Given the description of an element on the screen output the (x, y) to click on. 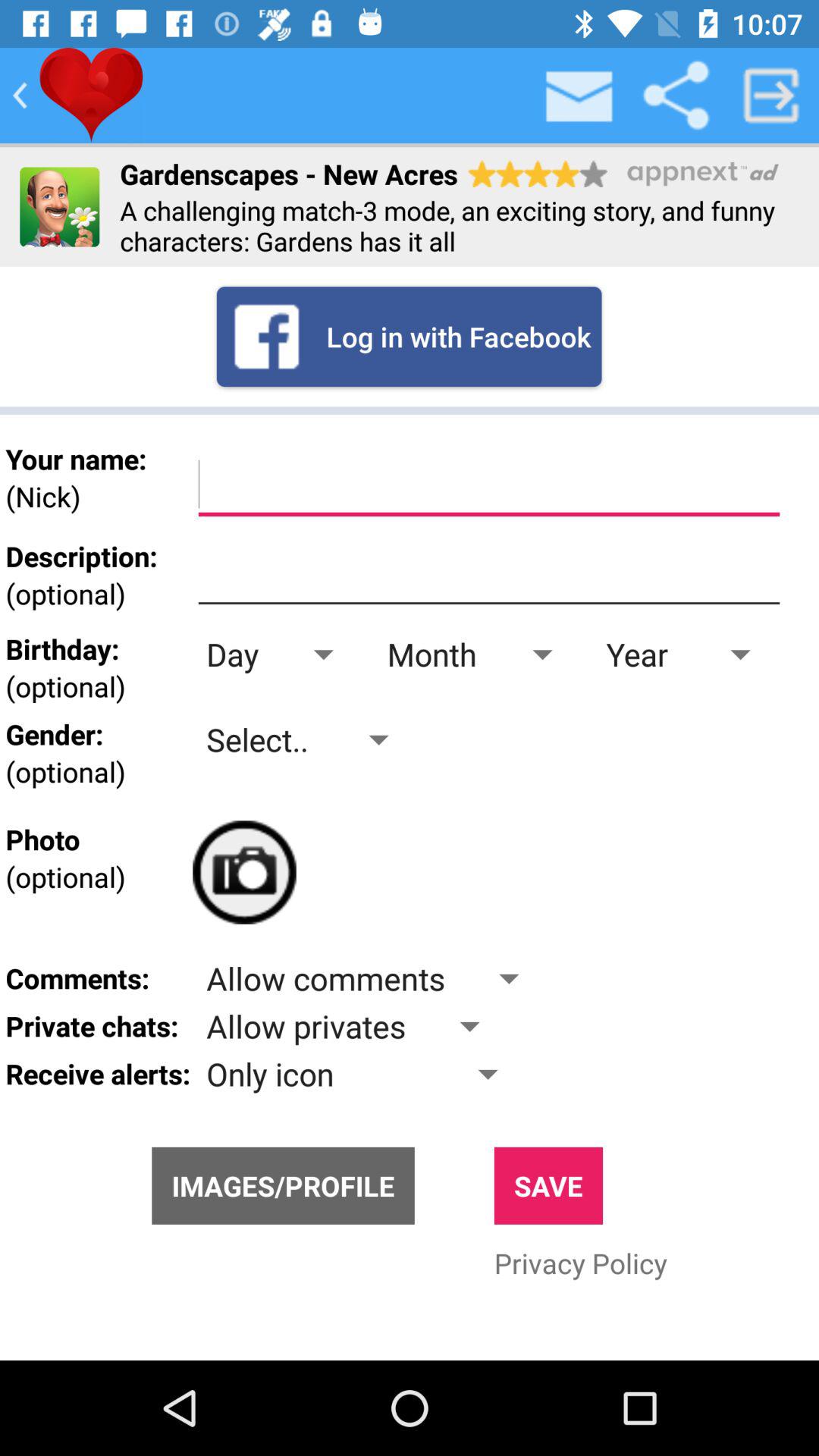
share button (675, 95)
